Given the description of an element on the screen output the (x, y) to click on. 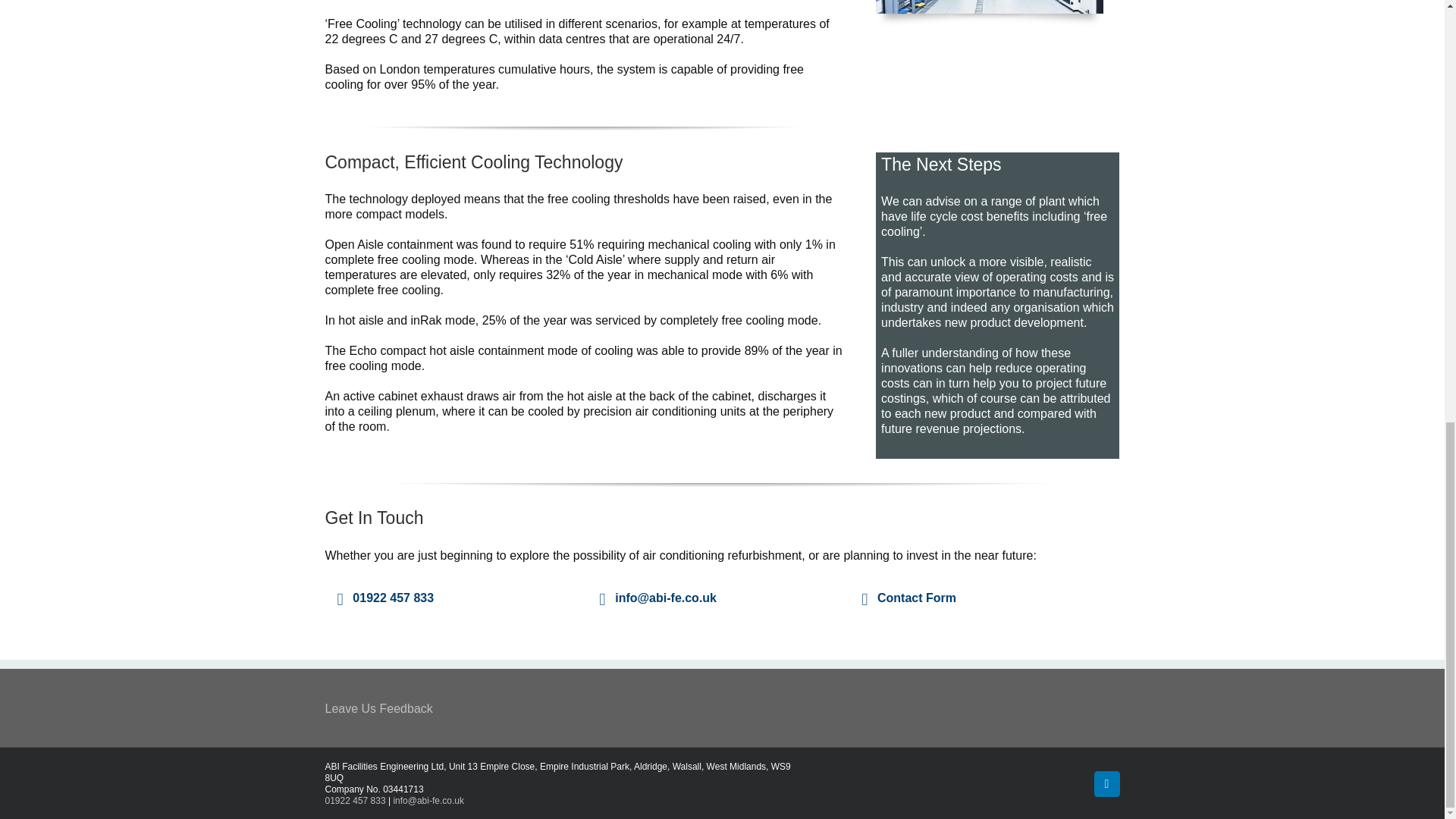
data centre server room (989, 6)
